Given the description of an element on the screen output the (x, y) to click on. 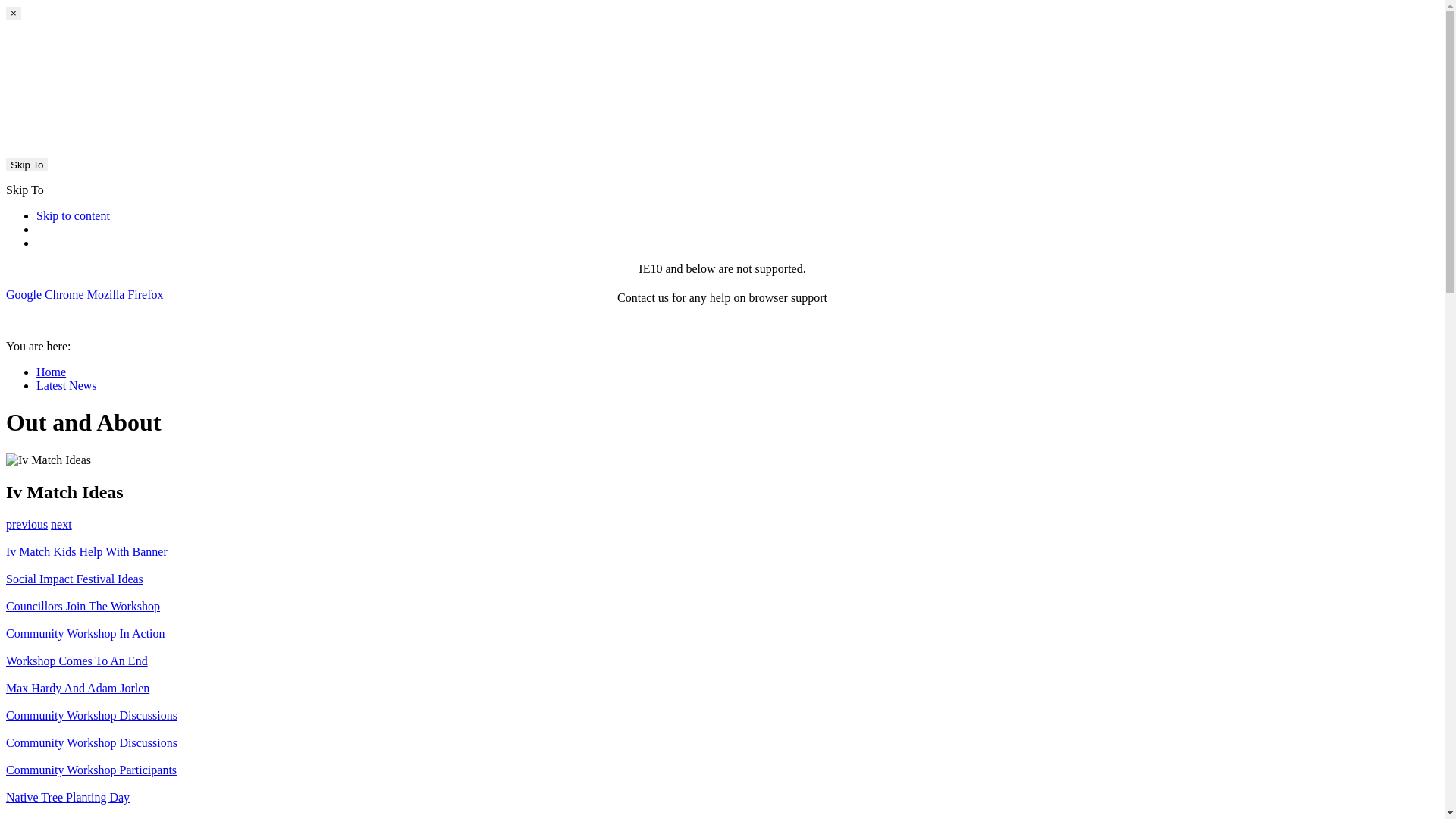
Skip to content Element type: text (72, 215)
Home Element type: text (50, 371)
Social Impact Festival Ideas Element type: text (722, 585)
Max Hardy And Adam Jorlen Element type: text (722, 695)
Workshop Comes To An End Element type: text (722, 667)
Iv Match Kids Help With Banner Element type: text (722, 558)
Councillors Join The Workshop Element type: text (722, 613)
Community Workshop Discussions Element type: text (722, 749)
Native Tree Planting Day Element type: text (722, 804)
Latest News Element type: text (66, 385)
Mozilla Firefox Element type: text (125, 294)
Google Chrome Element type: text (45, 294)
Community Workshop Participants Element type: text (722, 776)
Community Workshop In Action Element type: text (722, 640)
Skip To Element type: text (26, 164)
previous Element type: text (26, 523)
Community Workshop Discussions Element type: text (722, 722)
next Element type: text (61, 523)
